Given the description of an element on the screen output the (x, y) to click on. 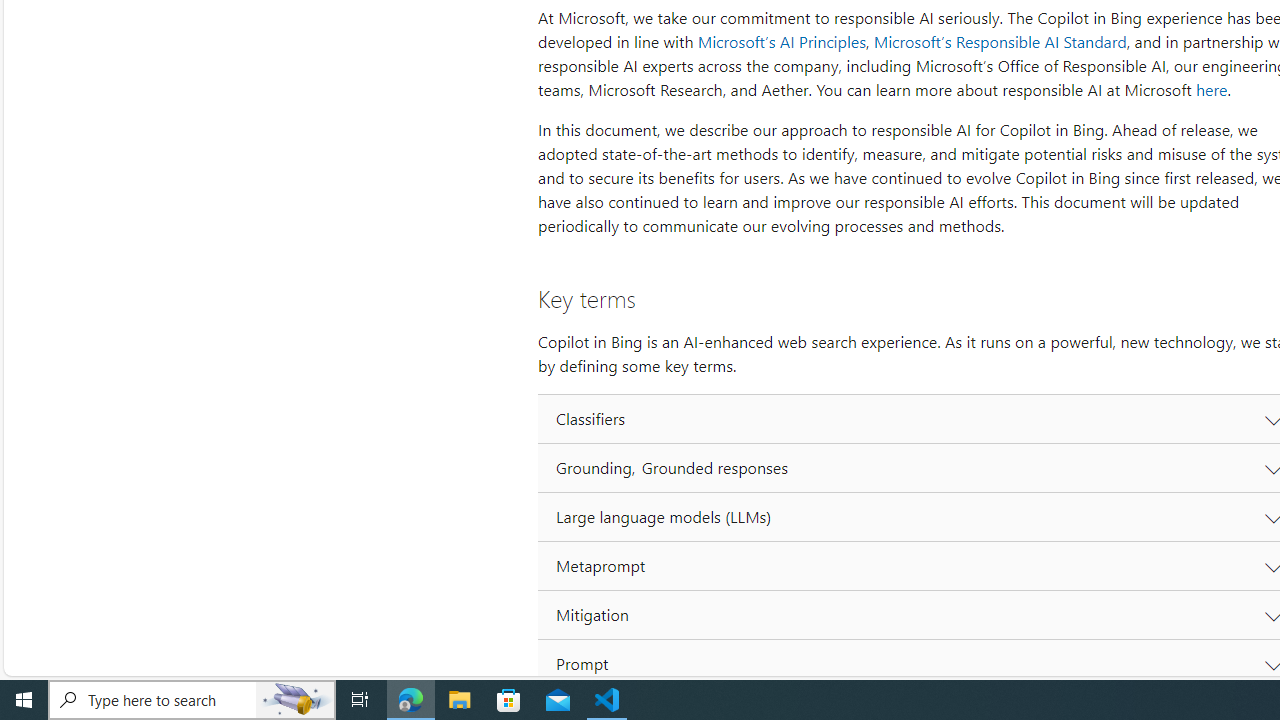
here (1211, 89)
